Given the description of an element on the screen output the (x, y) to click on. 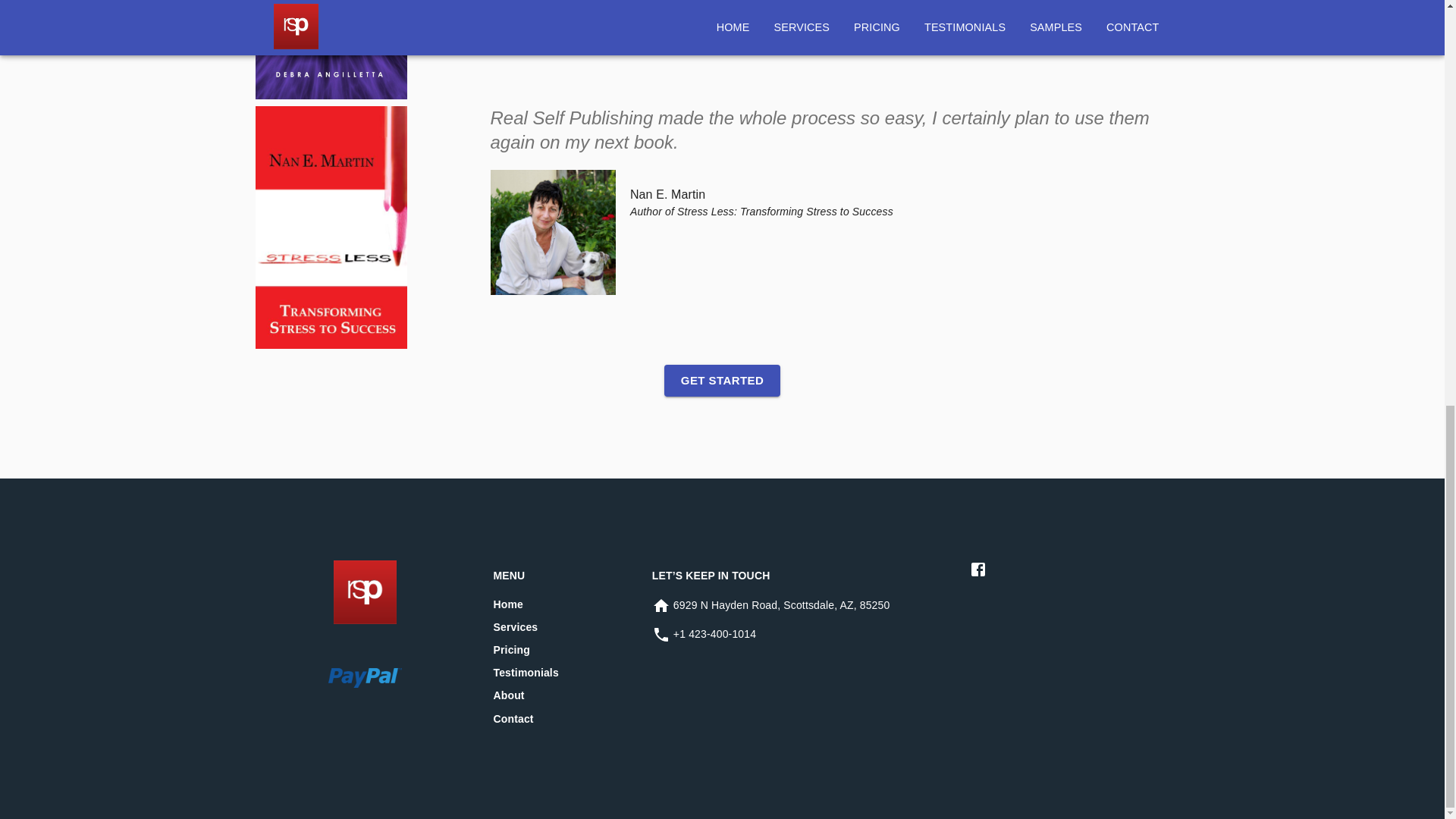
Pricing (511, 649)
About (508, 695)
Contact (512, 718)
Services (515, 626)
Home (507, 604)
Testimonials (525, 672)
GET STARTED (721, 380)
